Given the description of an element on the screen output the (x, y) to click on. 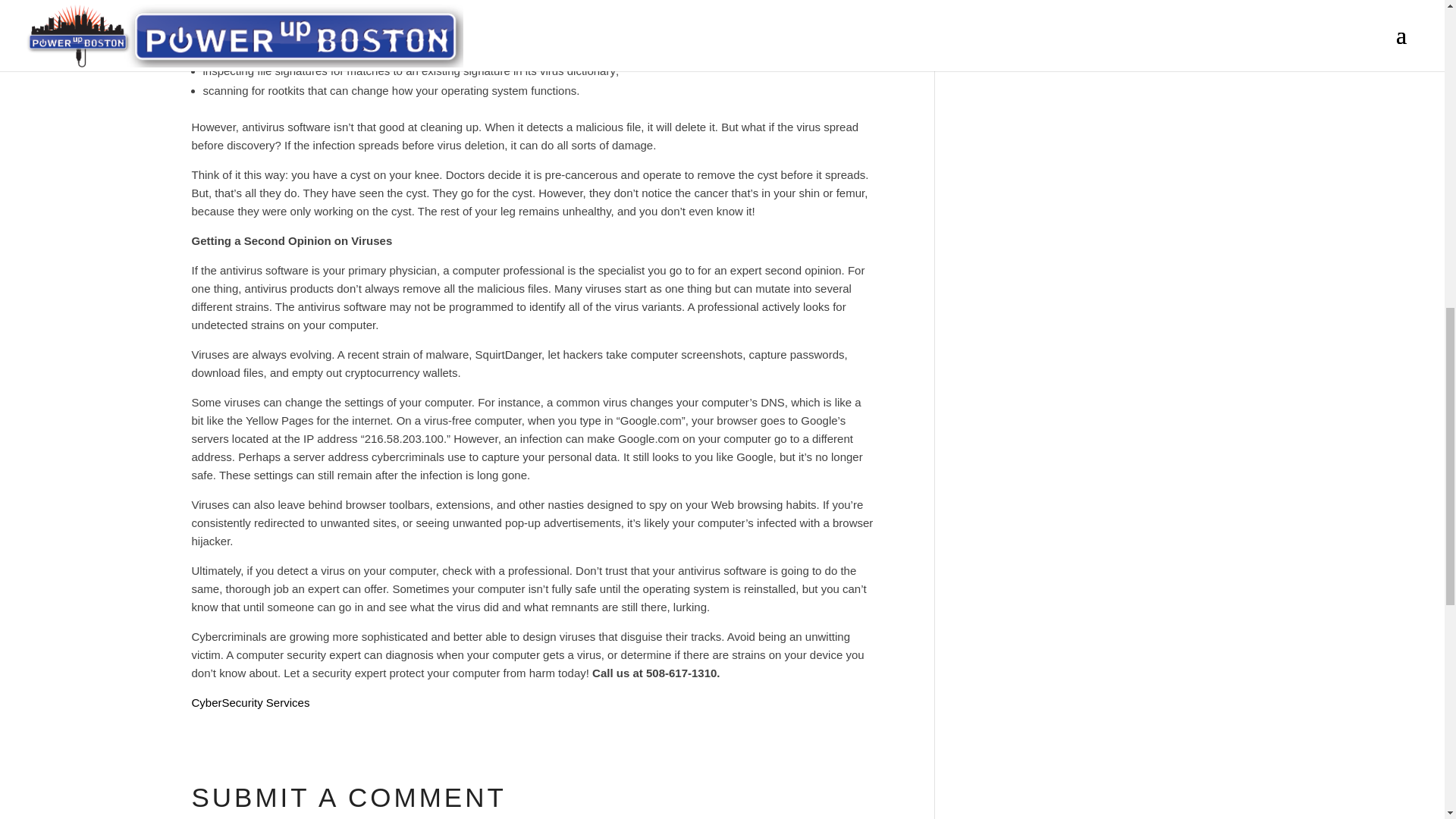
CyberSecurity Services (249, 702)
